Given the description of an element on the screen output the (x, y) to click on. 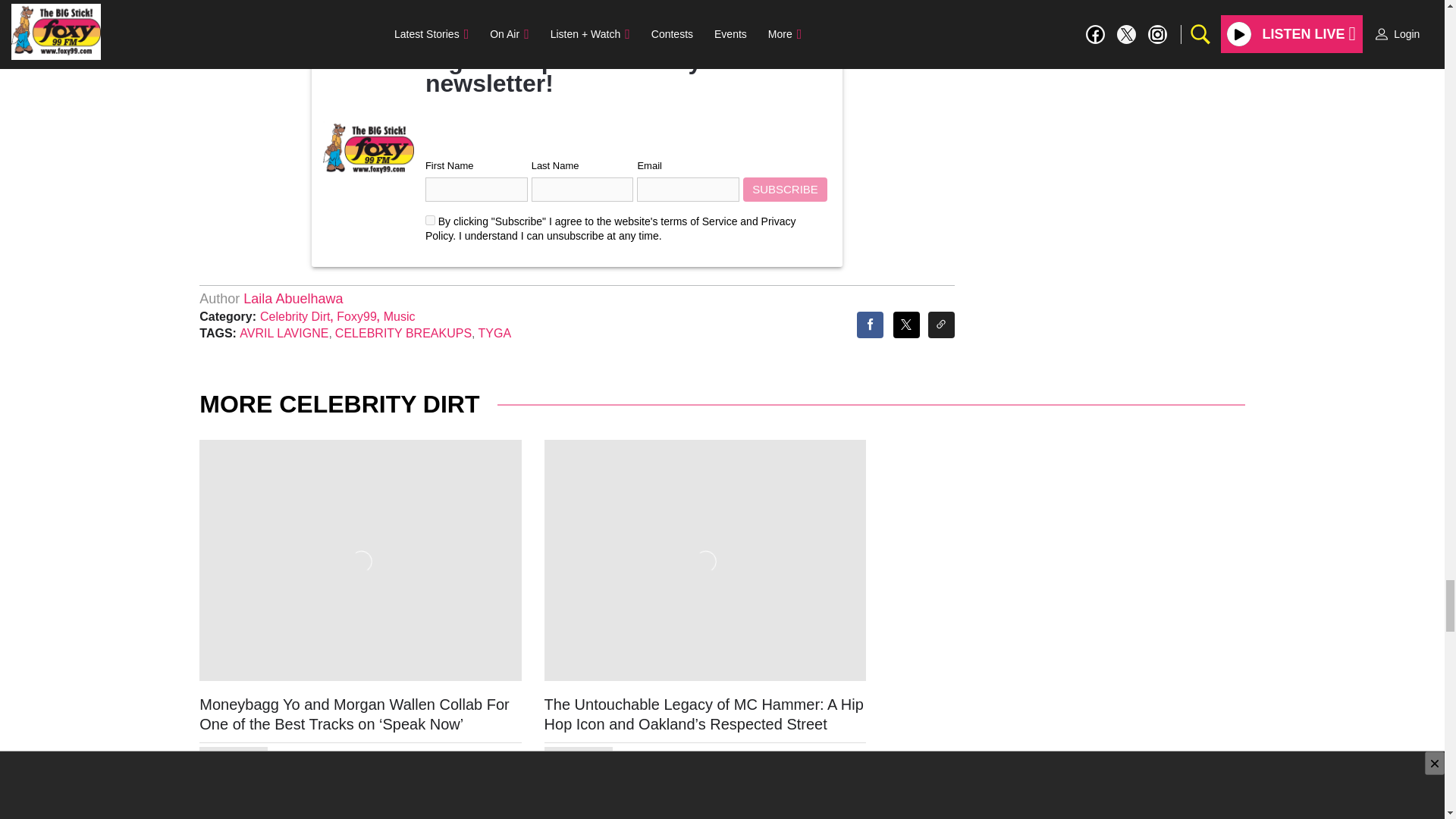
on (430, 220)
Laila Abuelhawa (292, 298)
